Given the description of an element on the screen output the (x, y) to click on. 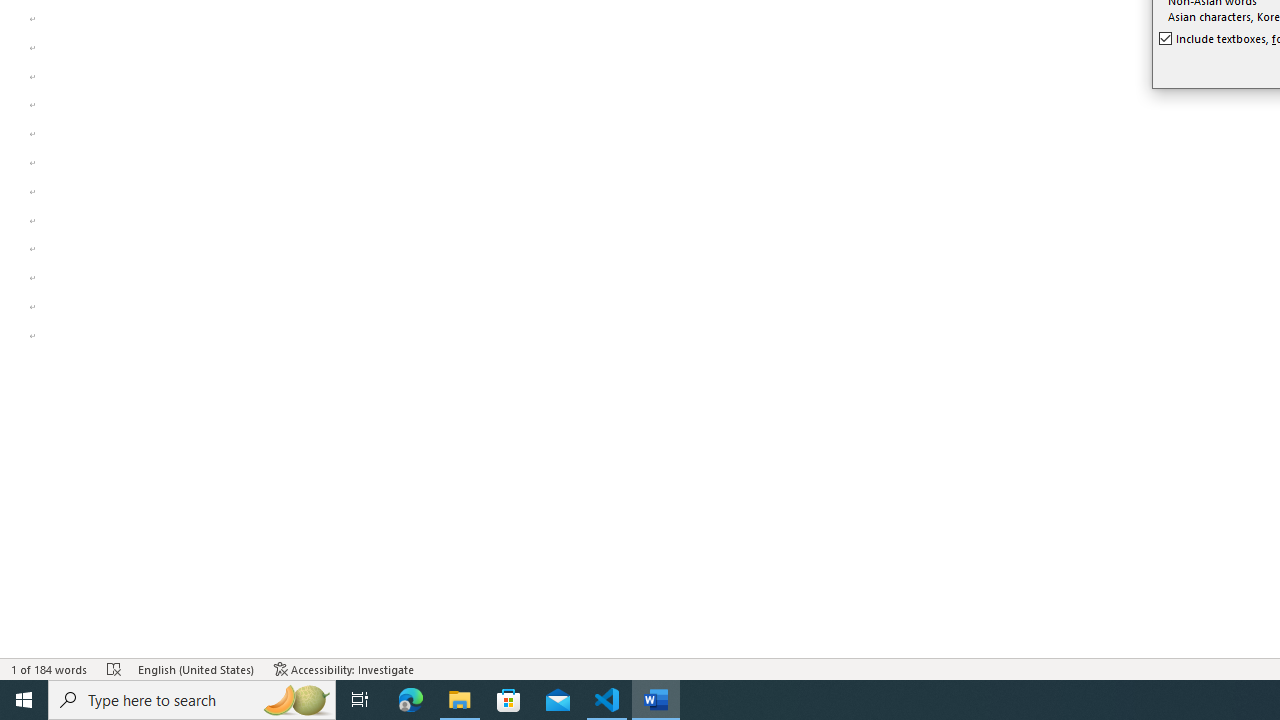
Microsoft Edge (411, 699)
Word - 1 running window (656, 699)
File Explorer - 1 running window (460, 699)
Word Count 1 of 184 words (49, 668)
